Given the description of an element on the screen output the (x, y) to click on. 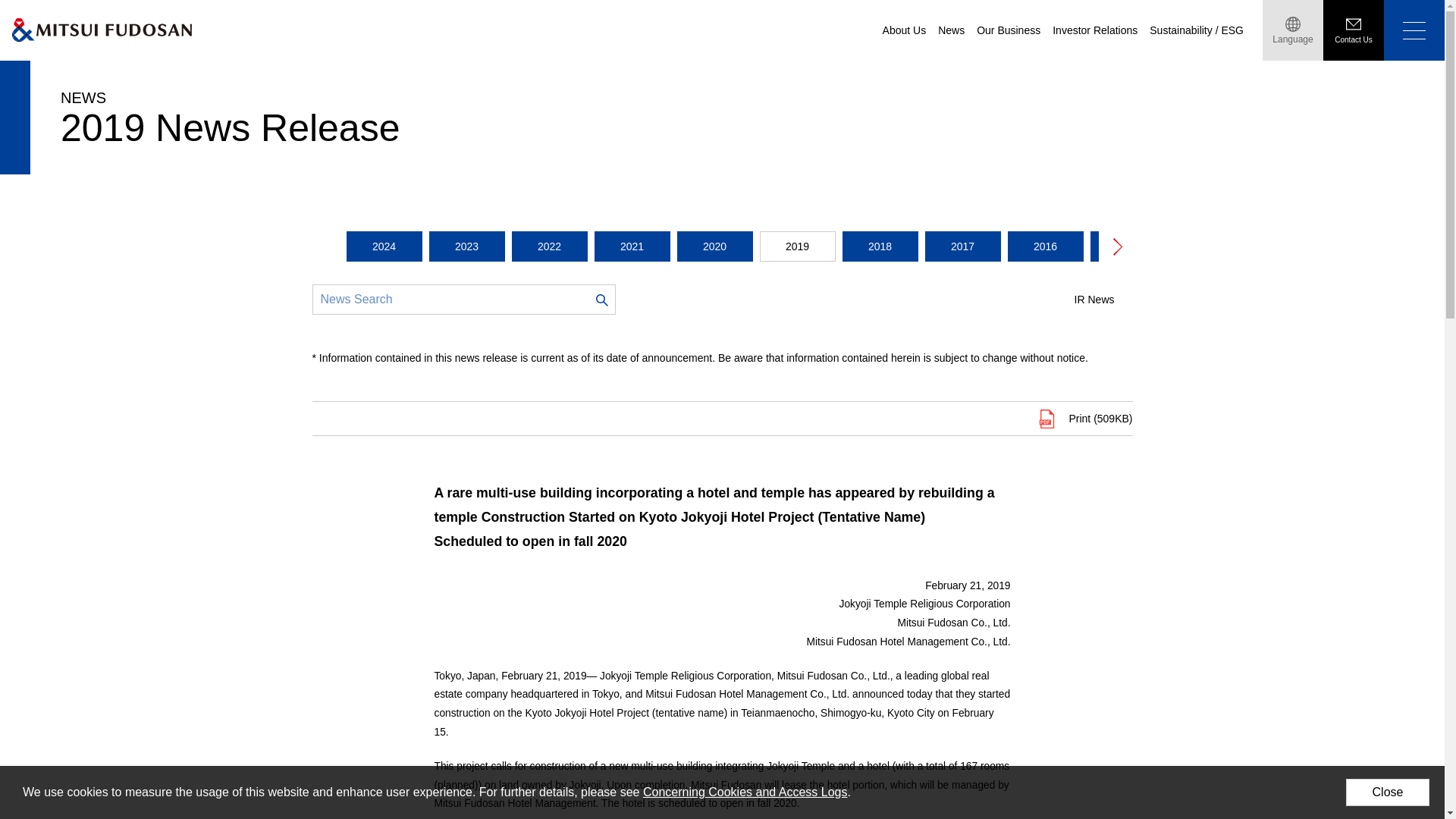
News (950, 29)
